Given the description of an element on the screen output the (x, y) to click on. 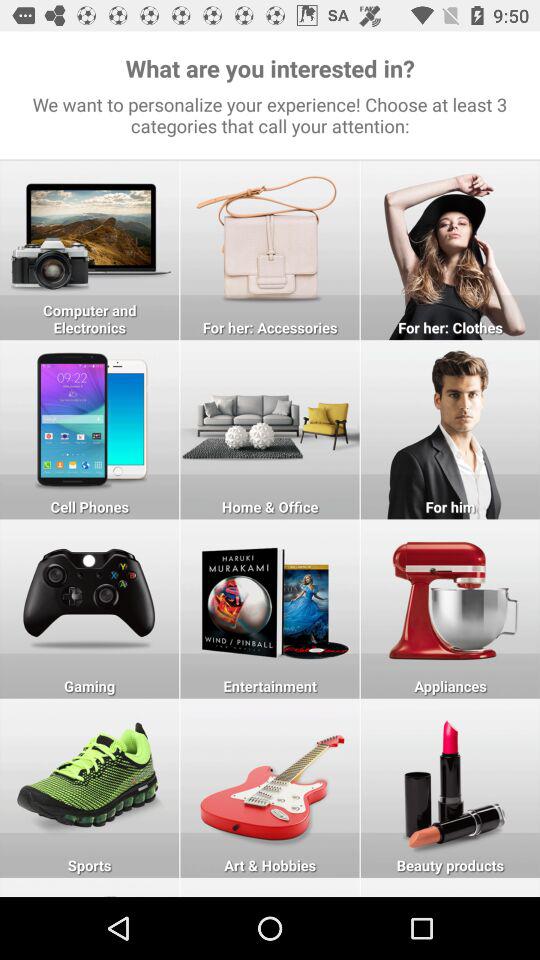
sports category (89, 787)
